Given the description of an element on the screen output the (x, y) to click on. 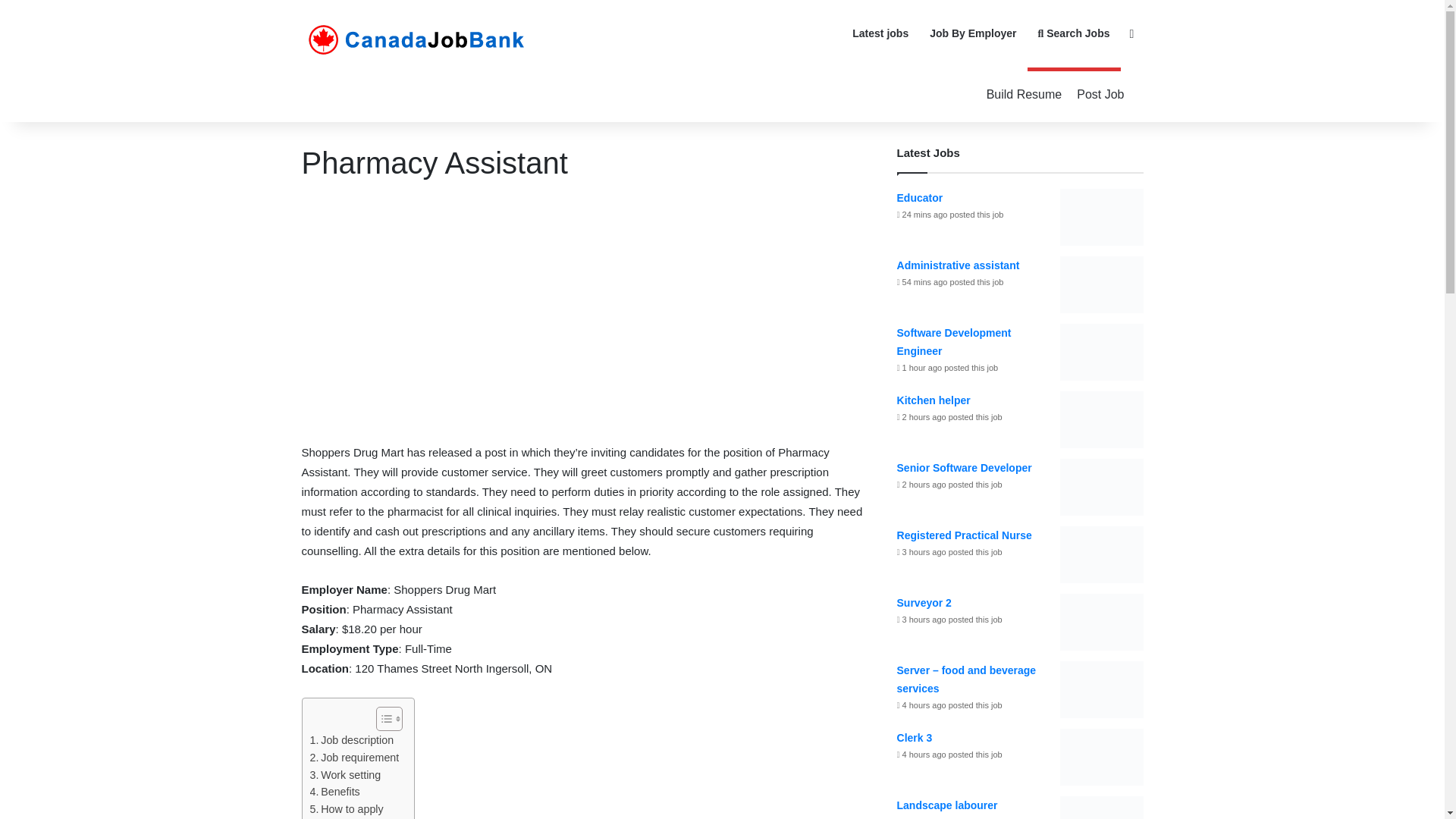
Benefits (333, 791)
Job By Employer (972, 33)
How to apply (345, 809)
Surveyor 2 (924, 603)
Post Job (1099, 94)
Job requirement (353, 757)
Administrative assistant (958, 265)
Latest jobs (879, 33)
Clerk 3 (914, 737)
Software Development Engineer (953, 341)
